Given the description of an element on the screen output the (x, y) to click on. 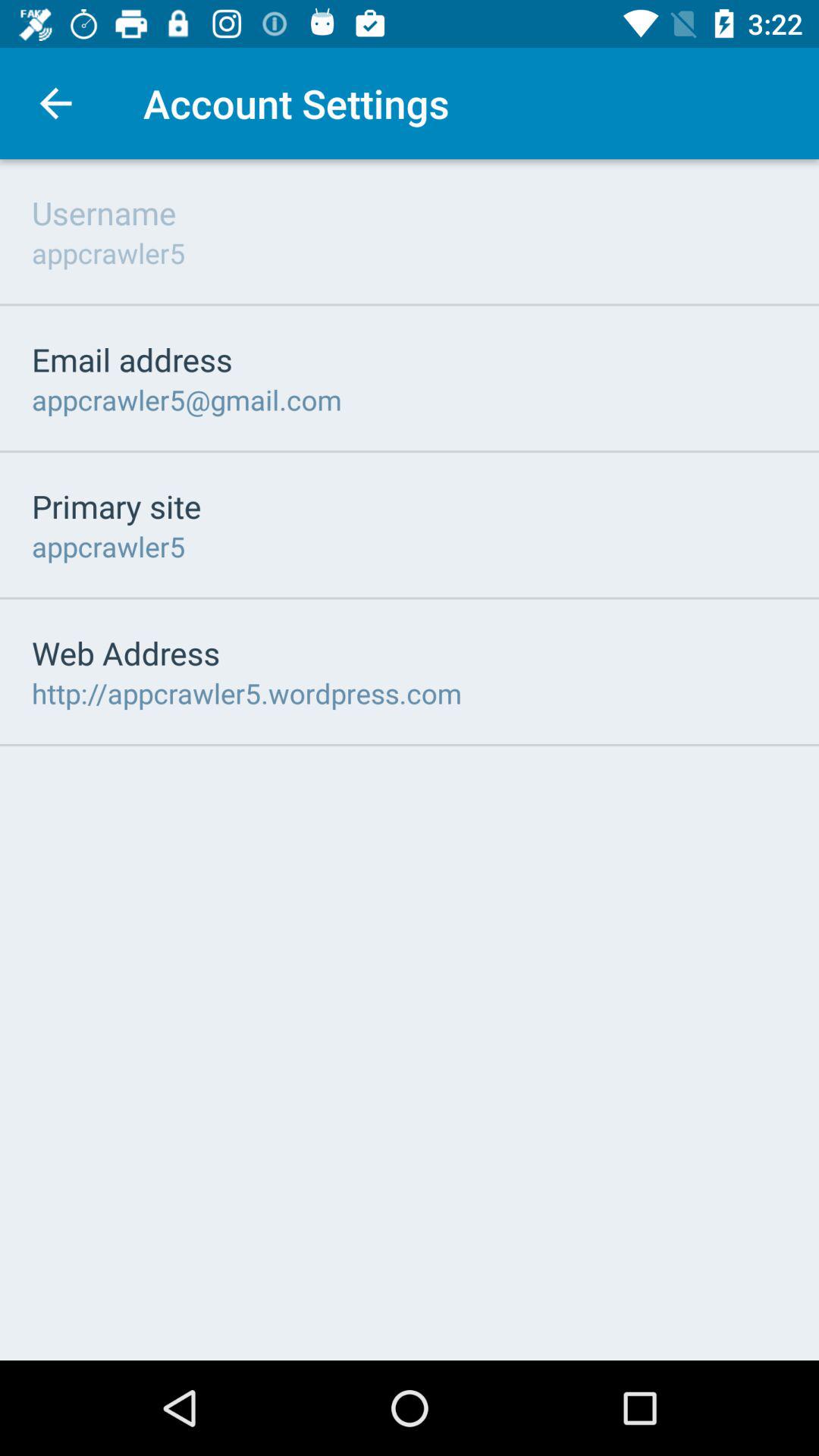
choose icon below the appcrawler5@gmail.com (116, 505)
